Given the description of an element on the screen output the (x, y) to click on. 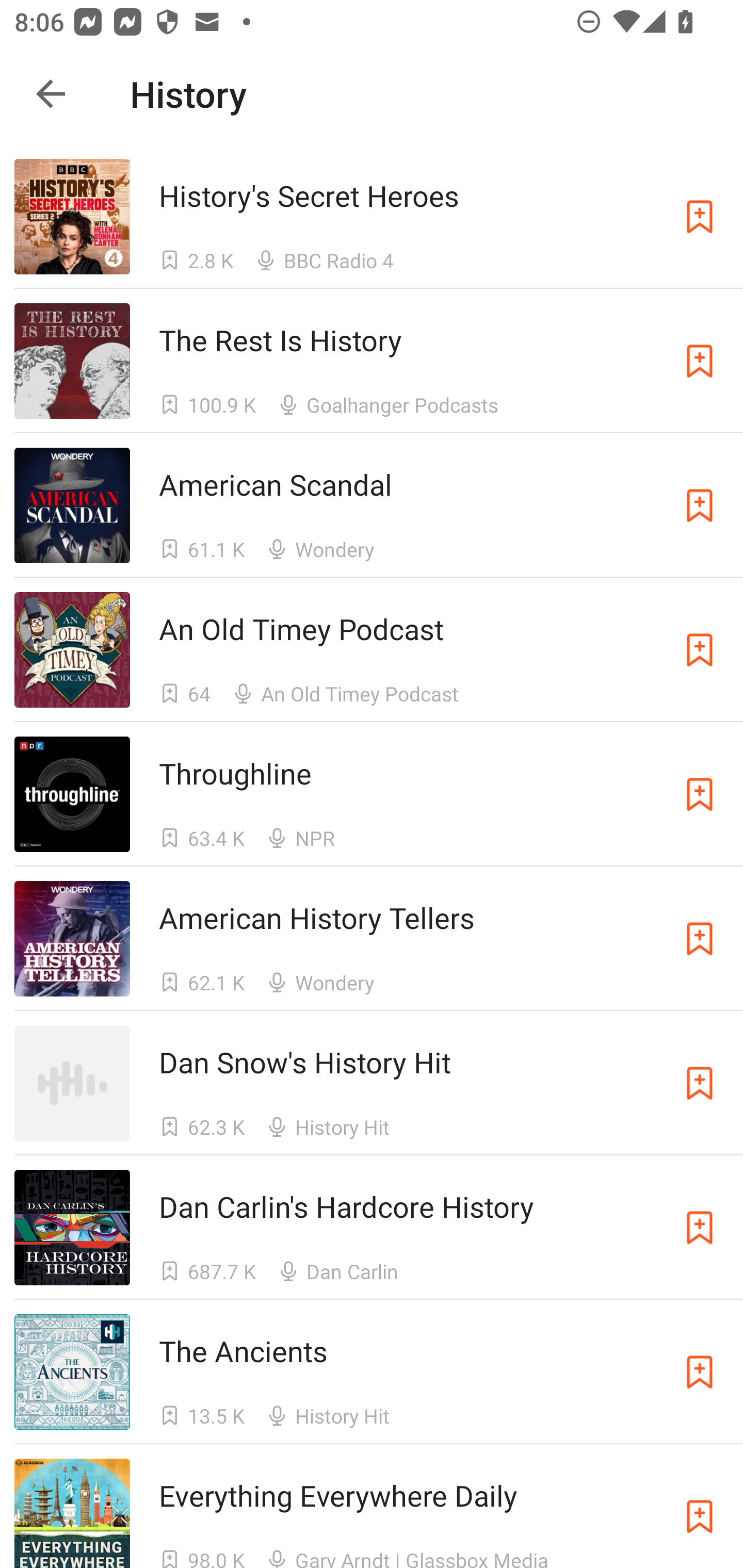
Navigate up (50, 93)
Subscribe (699, 216)
Subscribe (699, 360)
Subscribe (699, 505)
Subscribe (699, 649)
Throughline Throughline  63.4 K  NPR Subscribe (371, 794)
Subscribe (699, 793)
Subscribe (699, 939)
Subscribe (699, 1083)
Subscribe (699, 1227)
Subscribe (699, 1371)
Subscribe (699, 1513)
